Given the description of an element on the screen output the (x, y) to click on. 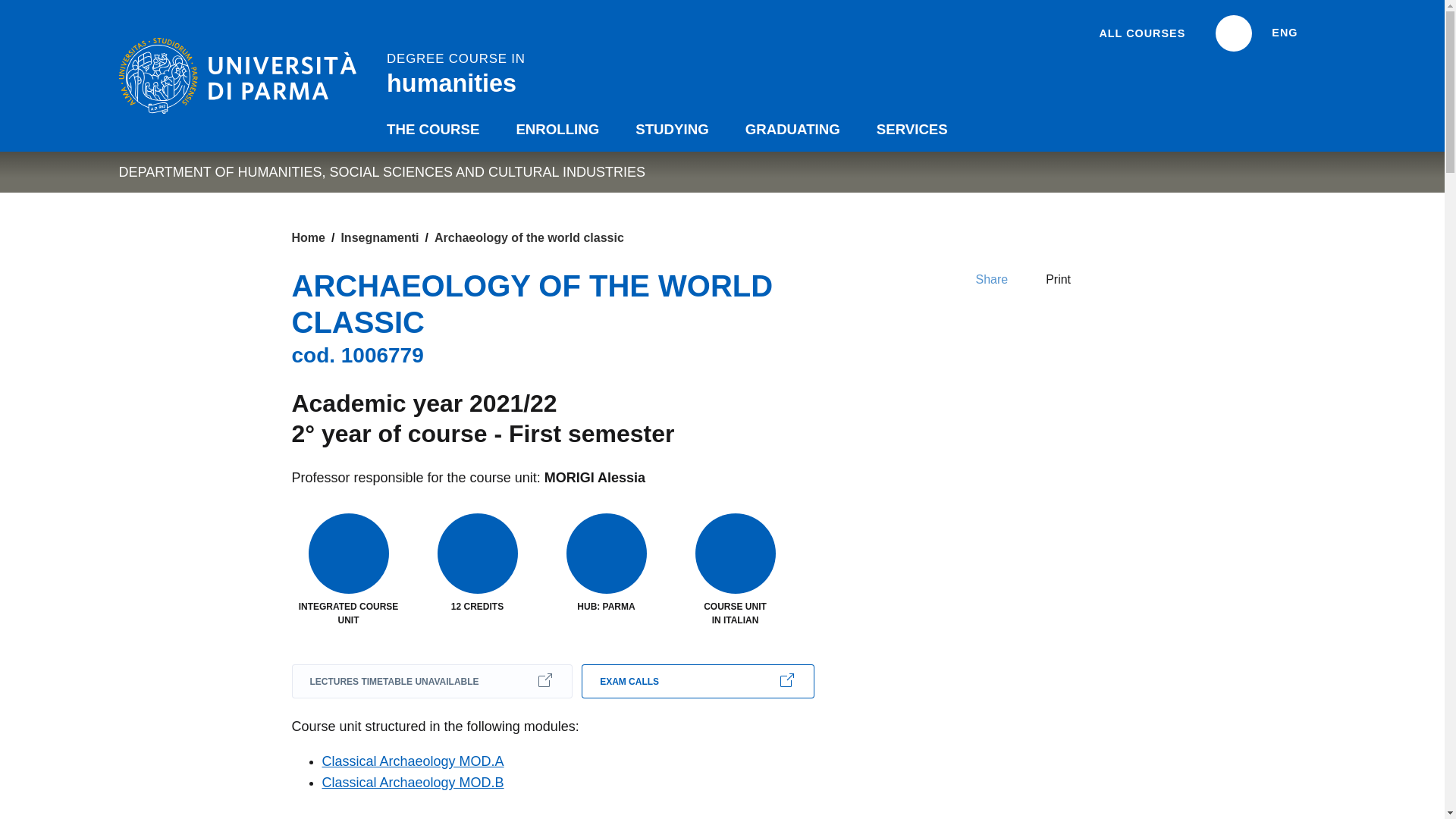
THE COURSE (432, 129)
GRADUATING (452, 70)
Vai al contenuto principale (792, 129)
ENG (6, 6)
ALL COURSES (1298, 32)
STUDYING (1142, 33)
ENROLLING (671, 129)
